Given the description of an element on the screen output the (x, y) to click on. 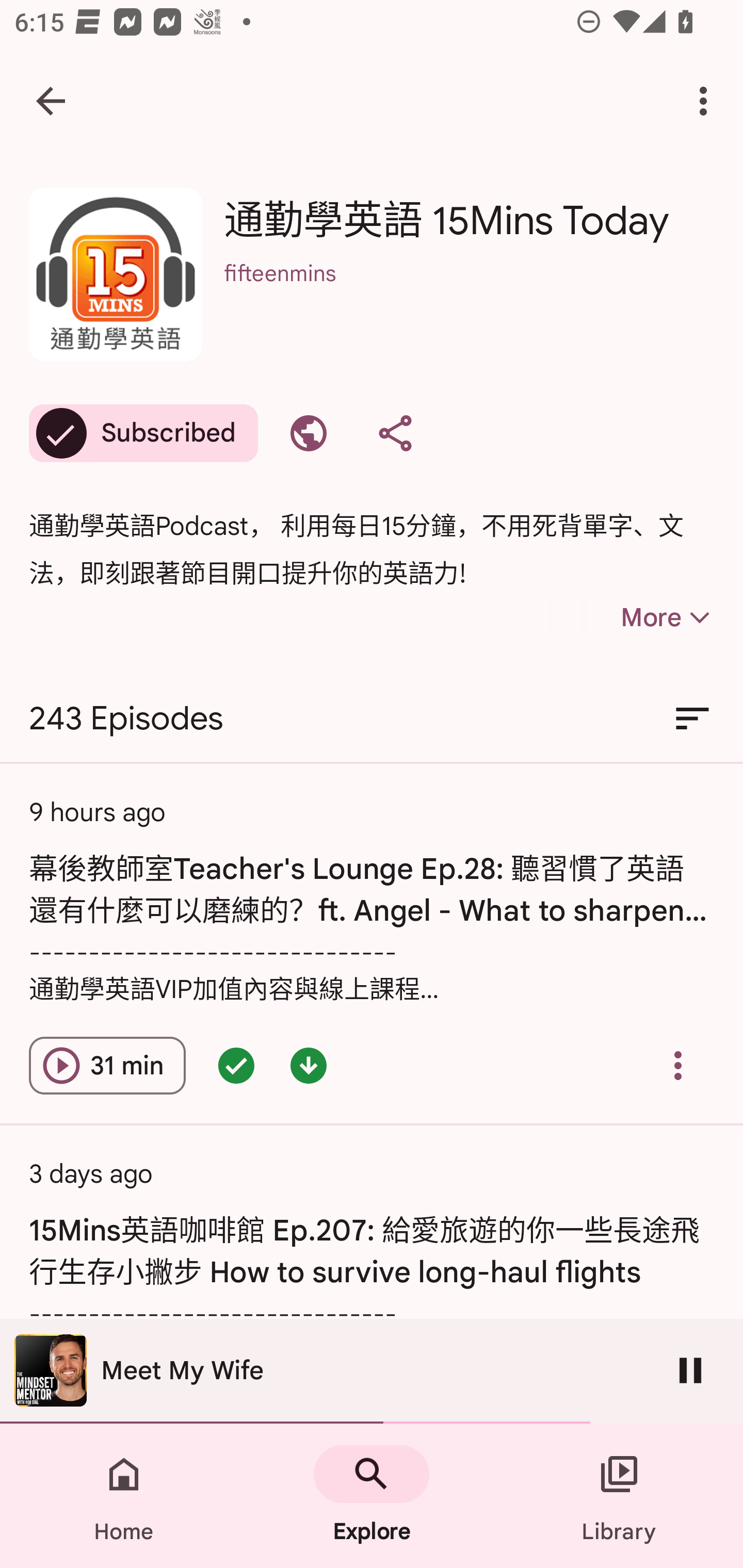
Navigate up (50, 101)
More options (706, 101)
fifteenmins (468, 300)
Subscribed (142, 433)
Visit website (308, 433)
Share (395, 433)
More (631, 616)
Sort (692, 718)
Episode queued - double tap for options (235, 1065)
Episode downloaded - double tap for options (308, 1065)
Overflow menu (677, 1065)
The Mindset Mentor Meet My Wife Pause 5154.0 (371, 1370)
Pause (690, 1370)
Home (123, 1495)
Library (619, 1495)
